Given the description of an element on the screen output the (x, y) to click on. 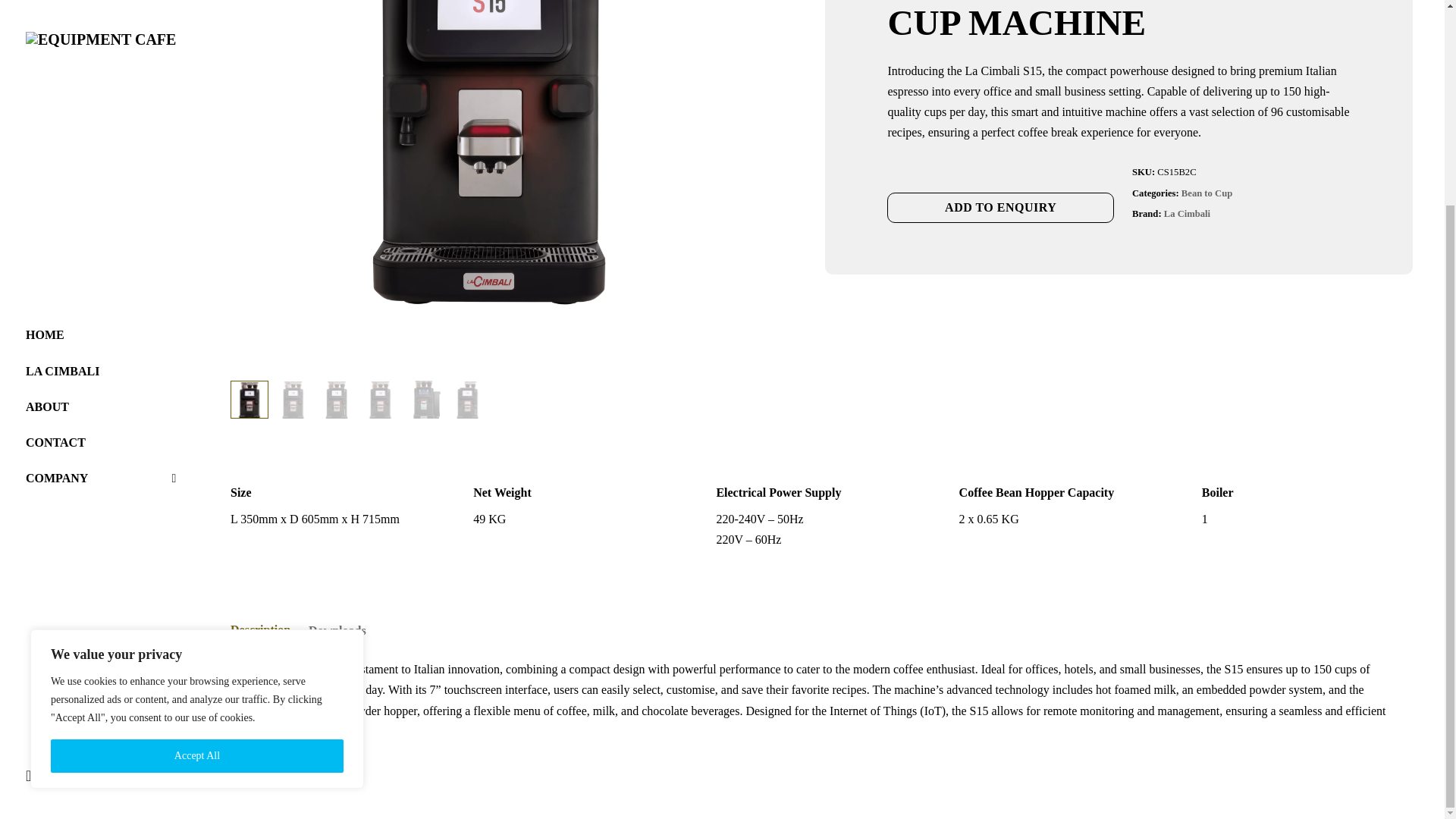
La Cimbali (1186, 213)
Bean to Cup (1205, 193)
LA CIMBALI (101, 107)
Accept All (196, 491)
ABOUT (101, 142)
HOME (101, 70)
CONTACT (101, 178)
ADD TO ENQUIRY (999, 207)
